Given the description of an element on the screen output the (x, y) to click on. 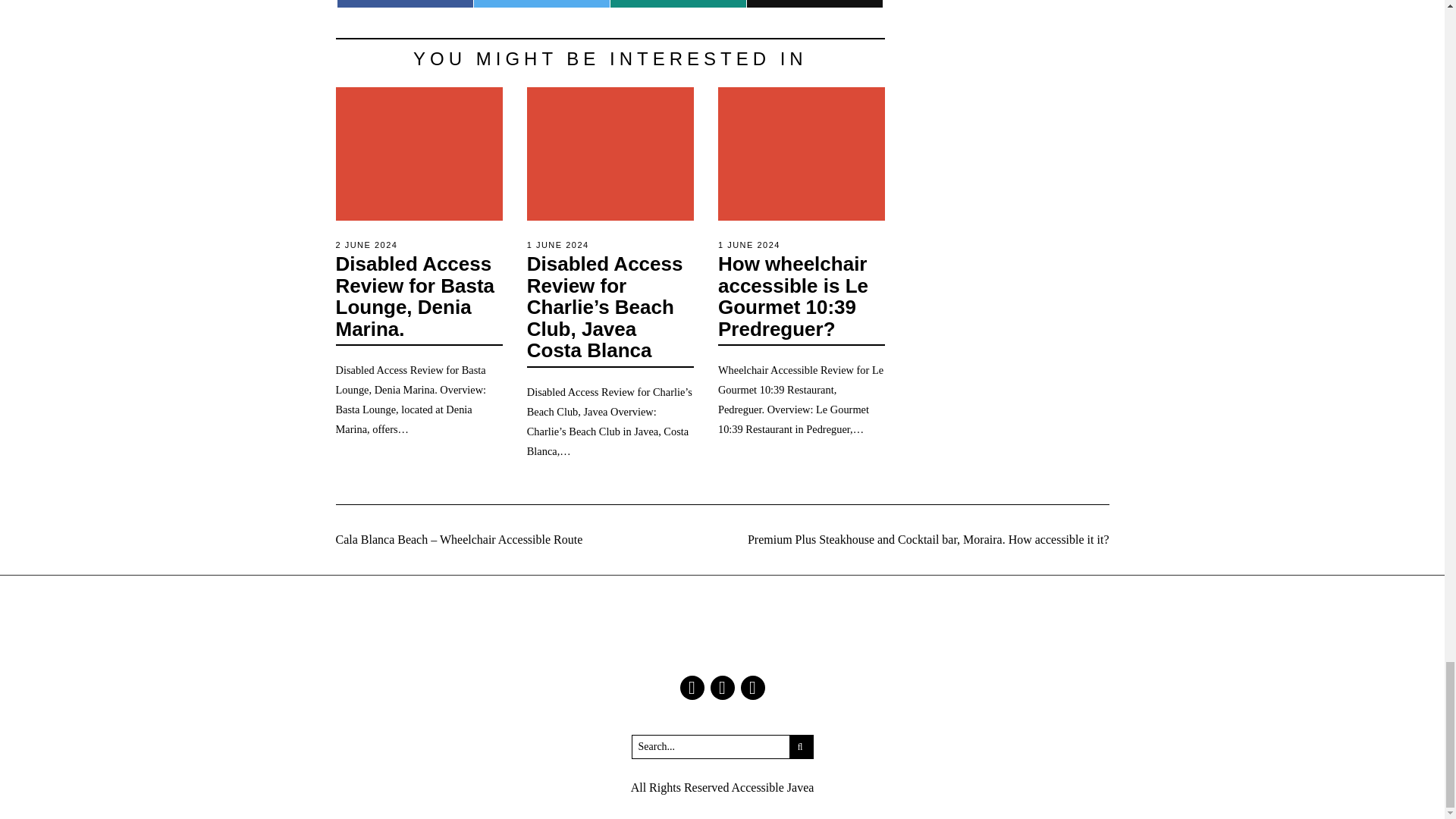
Twitter (721, 687)
Email (814, 3)
Instagram (751, 687)
Facebook (691, 687)
Whatsapp (677, 3)
Facebook (405, 3)
Twitter (542, 3)
